Given the description of an element on the screen output the (x, y) to click on. 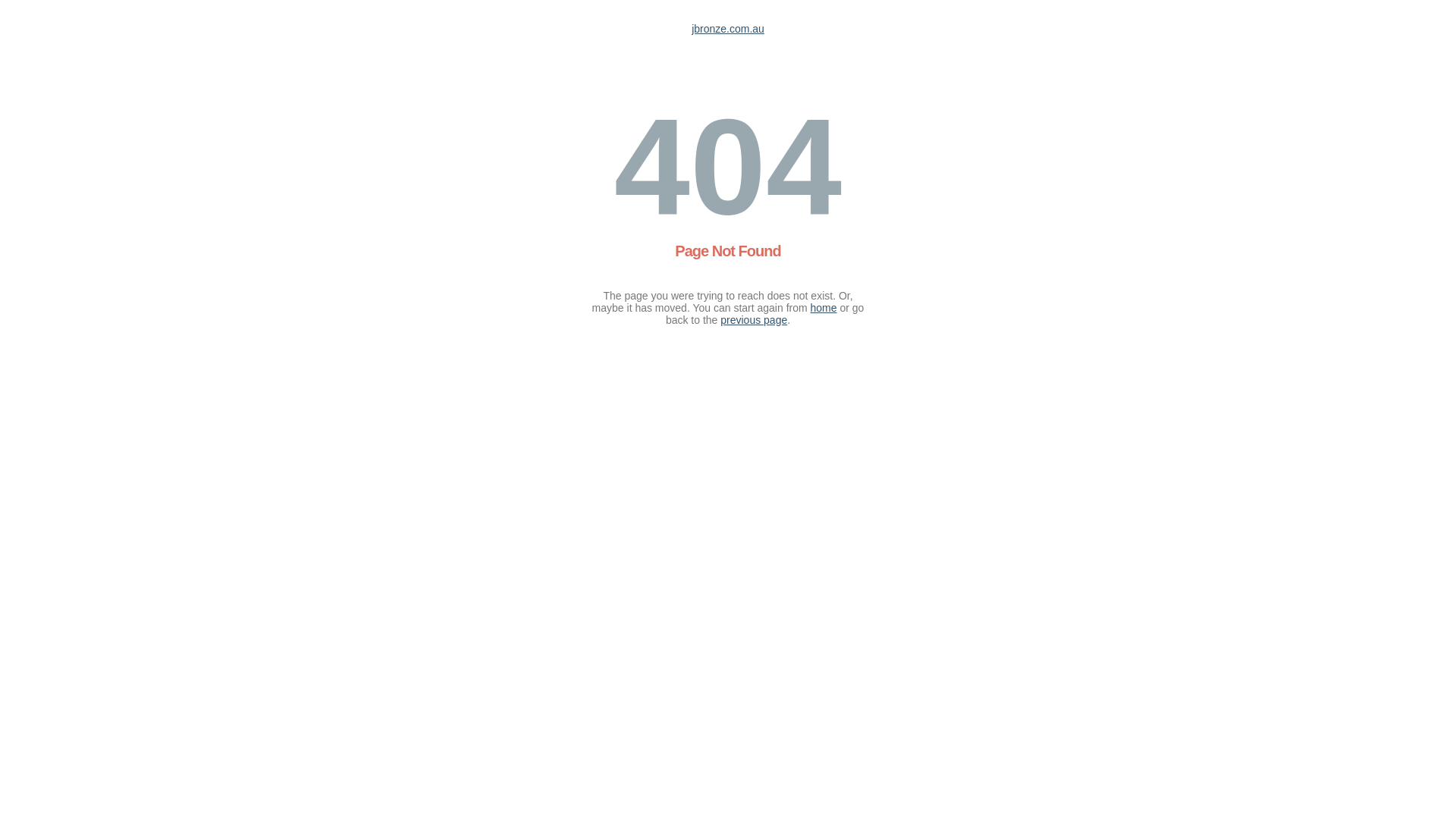
previous page Element type: text (753, 319)
jbronze.com.au Element type: text (727, 28)
home Element type: text (823, 307)
